Given the description of an element on the screen output the (x, y) to click on. 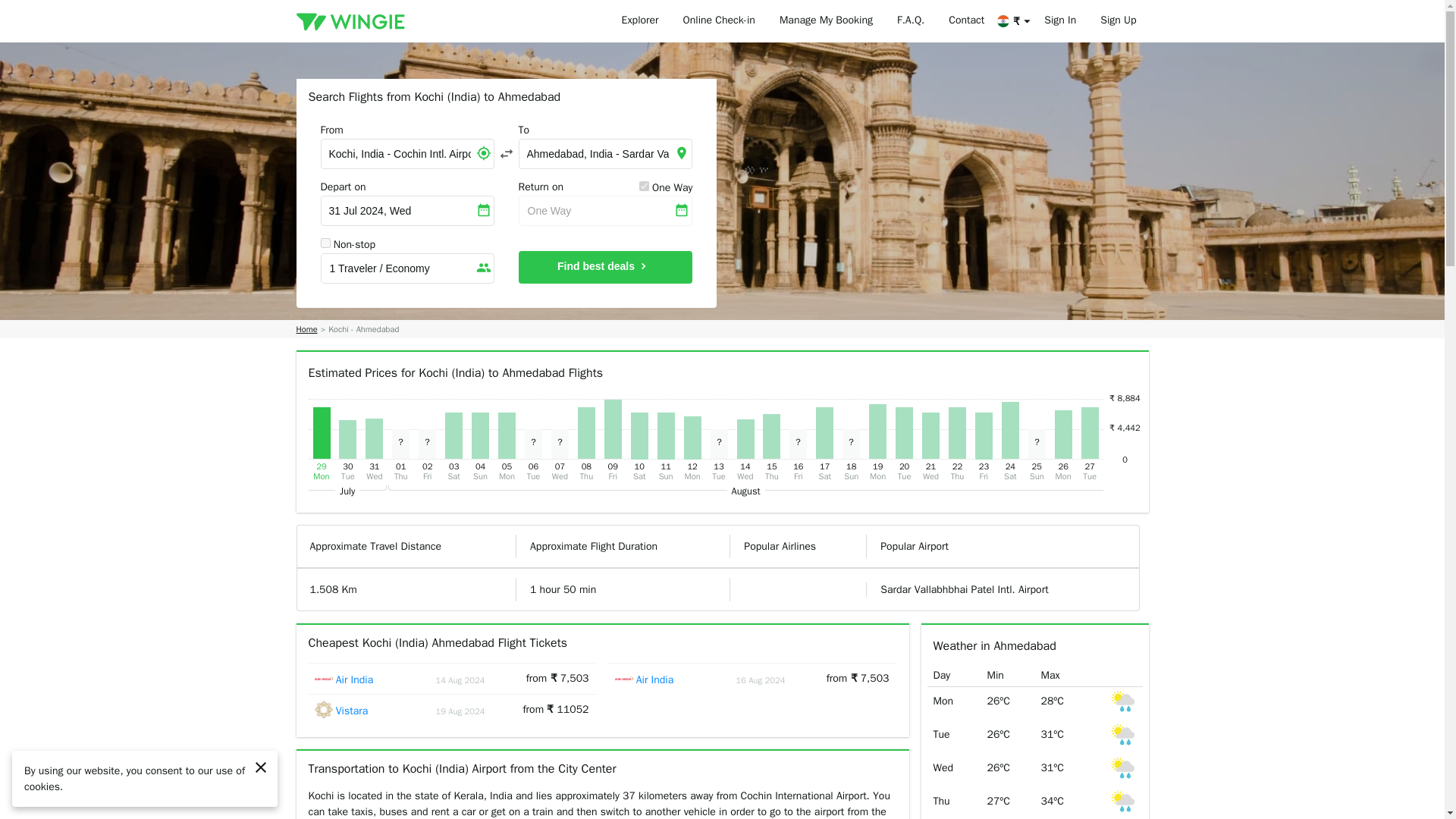
One Way (605, 210)
Explorer (640, 21)
Sign Up (1117, 21)
on (644, 185)
31 Jul 2024, Wed (406, 210)
Kochi, India - Cochin Intl. Airport (406, 153)
Contact (965, 21)
false (325, 243)
Manage My Booking (826, 21)
Ahmedabad, India - Sardar Vallabhbhai Patel Intl. Airport (605, 153)
Find best deals (605, 266)
Sign In (1059, 21)
Home (306, 328)
F.A.Q. (910, 21)
Online Check-in (719, 21)
